Given the description of an element on the screen output the (x, y) to click on. 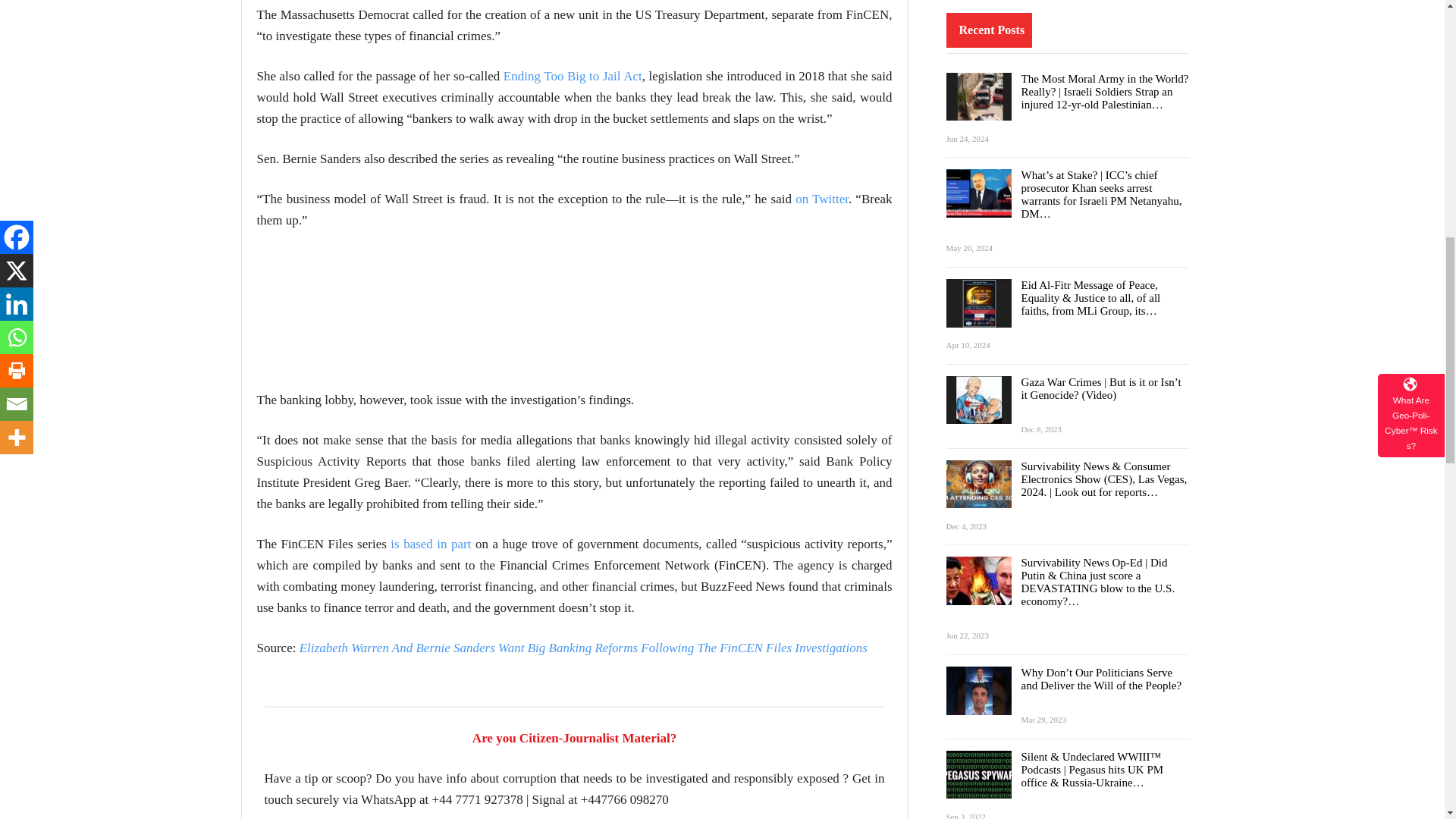
Twitter Tweet (369, 306)
